Given the description of an element on the screen output the (x, y) to click on. 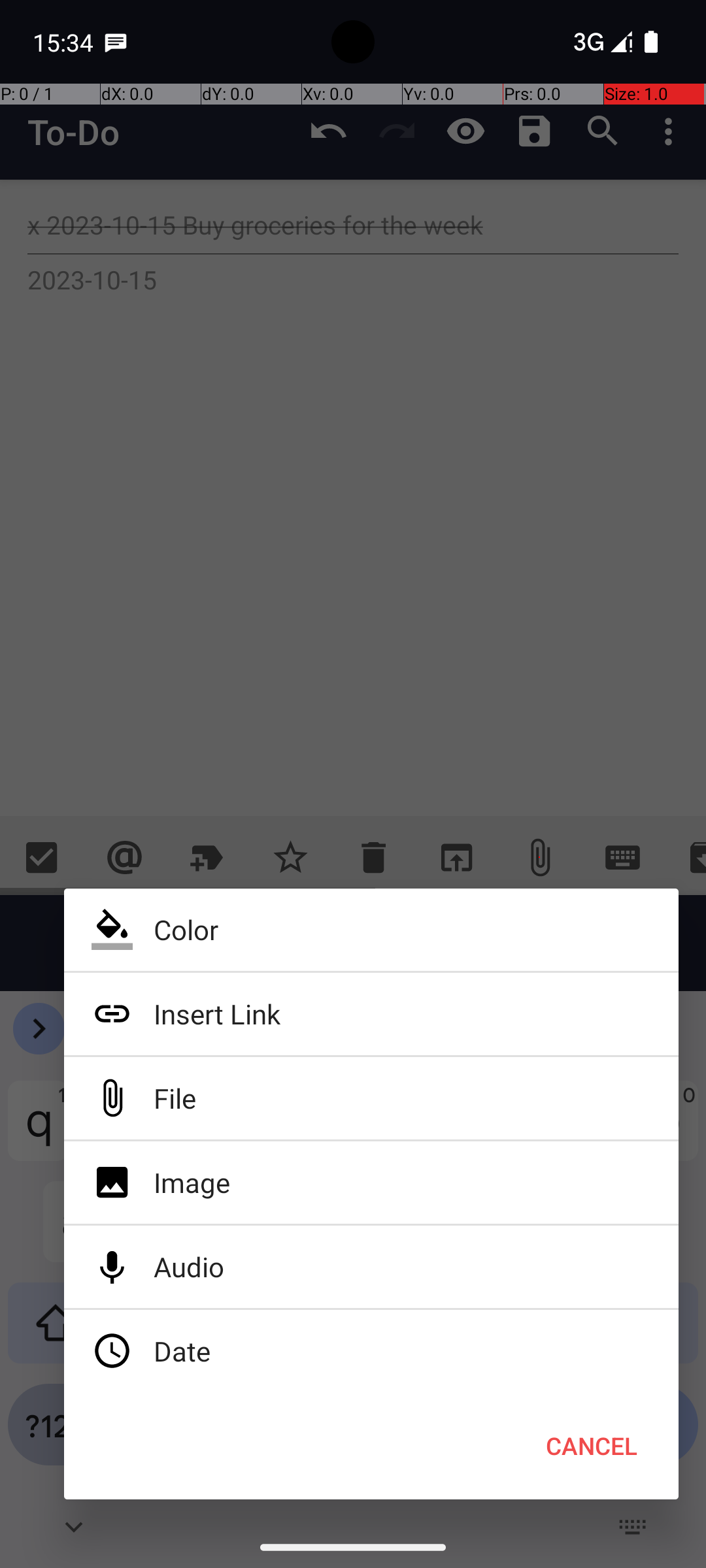
Color Element type: android.widget.TextView (371, 929)
Insert Link Element type: android.widget.TextView (371, 1013)
File Element type: android.widget.TextView (371, 1098)
Image Element type: android.widget.TextView (371, 1182)
